Given the description of an element on the screen output the (x, y) to click on. 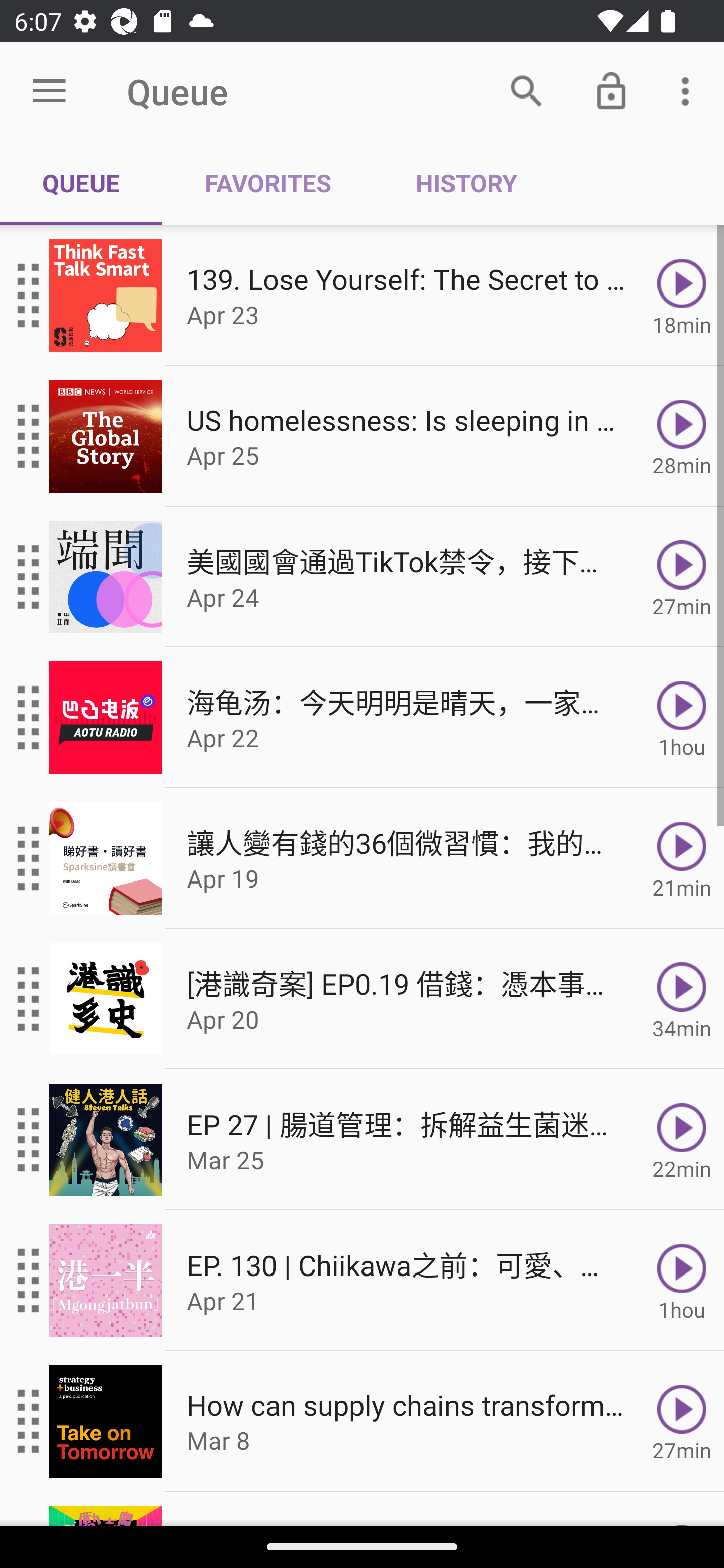
Open menu (49, 91)
Search (526, 90)
Lock Queue (611, 90)
More options (688, 90)
QUEUE (81, 183)
FAVORITES (267, 183)
HISTORY (465, 183)
Play 18min (681, 295)
Play 28min (681, 435)
Play 27min (681, 576)
Play 1hou (681, 717)
Play 21min (681, 858)
Play 34min (681, 998)
Play 22min (681, 1139)
Play 1hou (681, 1280)
Play 27min (681, 1421)
